Given the description of an element on the screen output the (x, y) to click on. 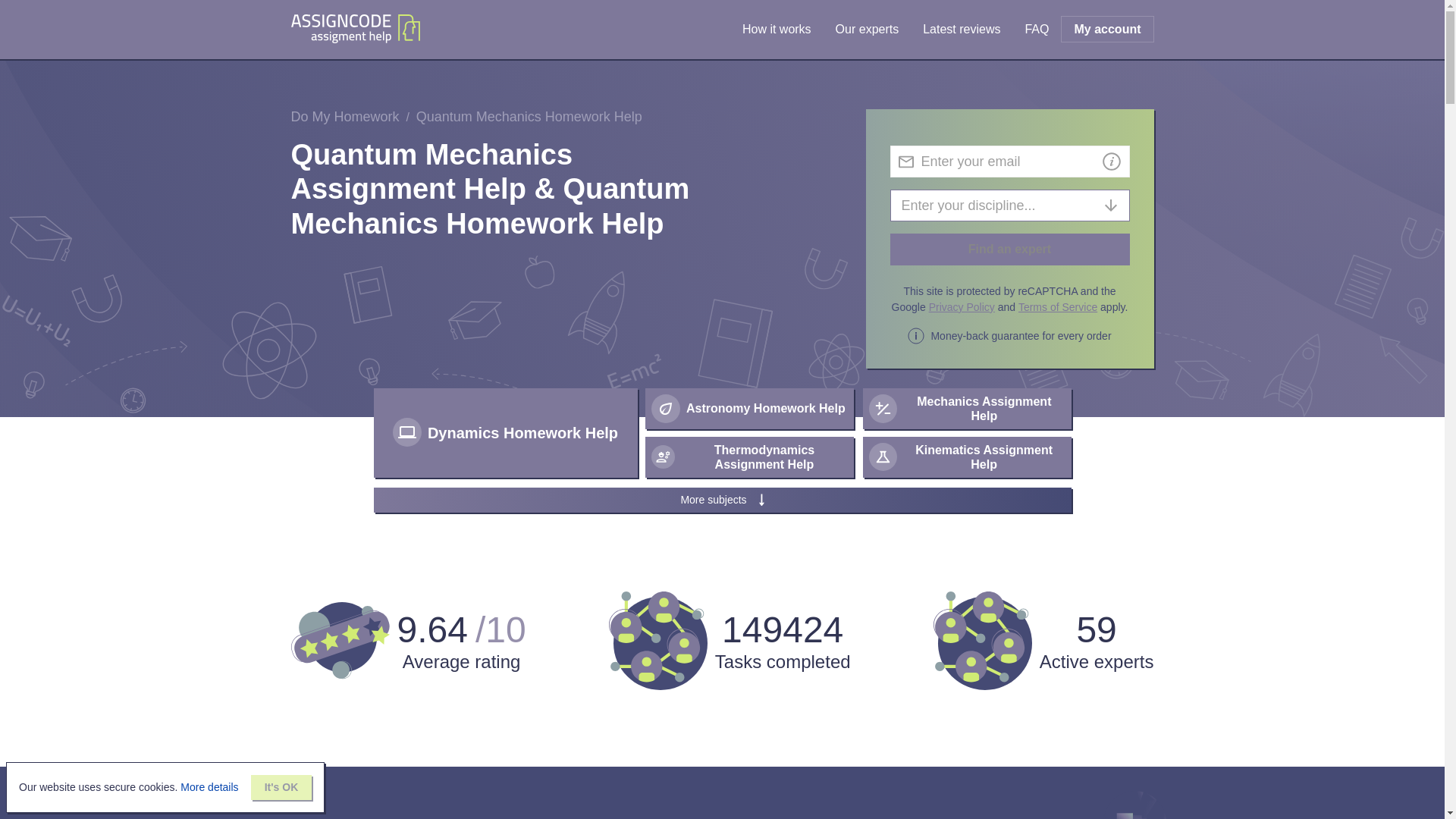
Terms of Service (1057, 306)
FAQ (1036, 29)
Mechanics Assignment Help (967, 408)
Do My Homework (344, 116)
Home page (355, 29)
Dynamics Homework Help (508, 434)
Privacy Policy (961, 306)
How it works (776, 29)
My account (1107, 28)
Find an expert (1009, 249)
